Given the description of an element on the screen output the (x, y) to click on. 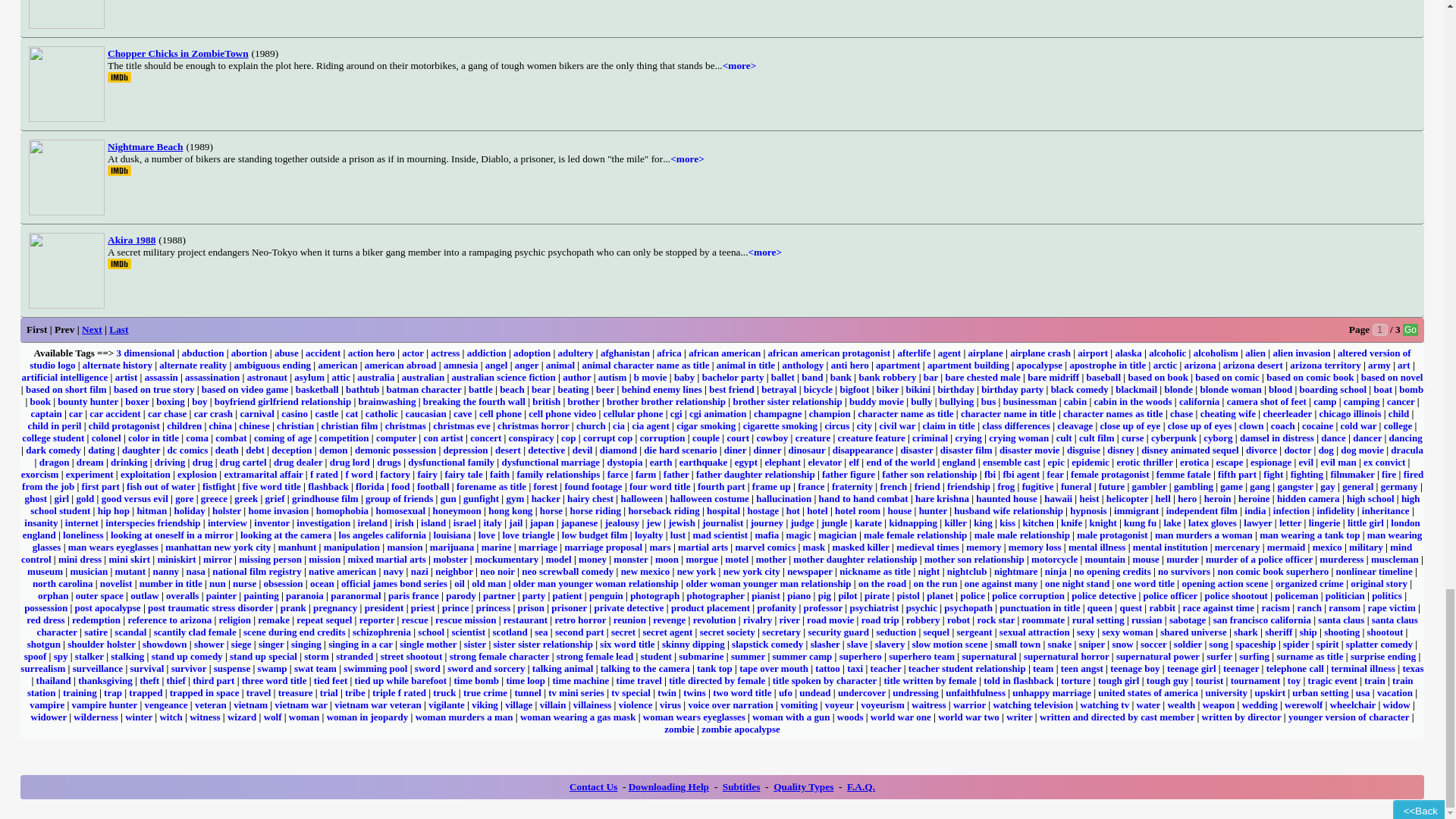
Go (1410, 329)
1 (1380, 329)
